Given the description of an element on the screen output the (x, y) to click on. 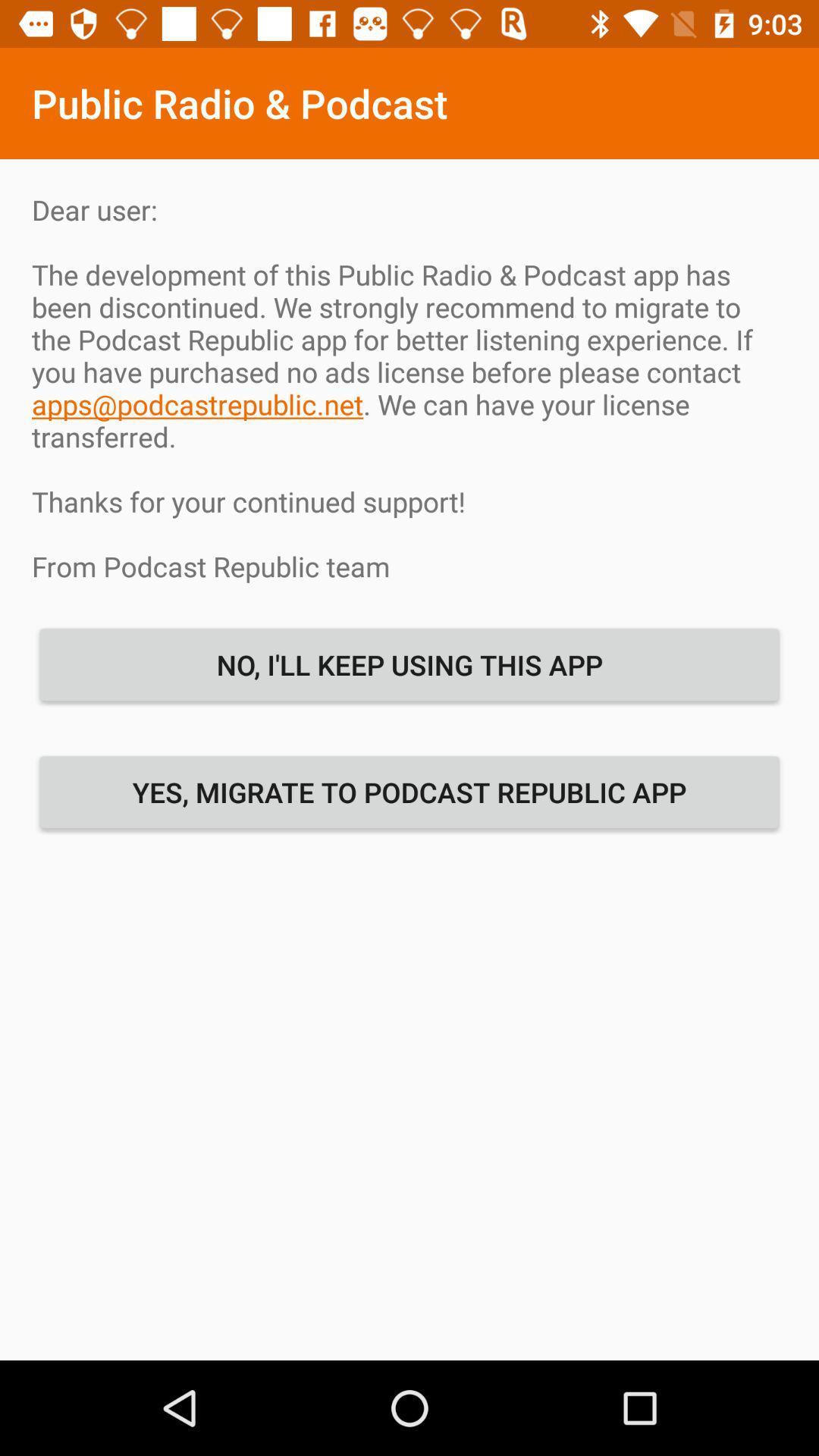
turn on dear user the icon (409, 388)
